Given the description of an element on the screen output the (x, y) to click on. 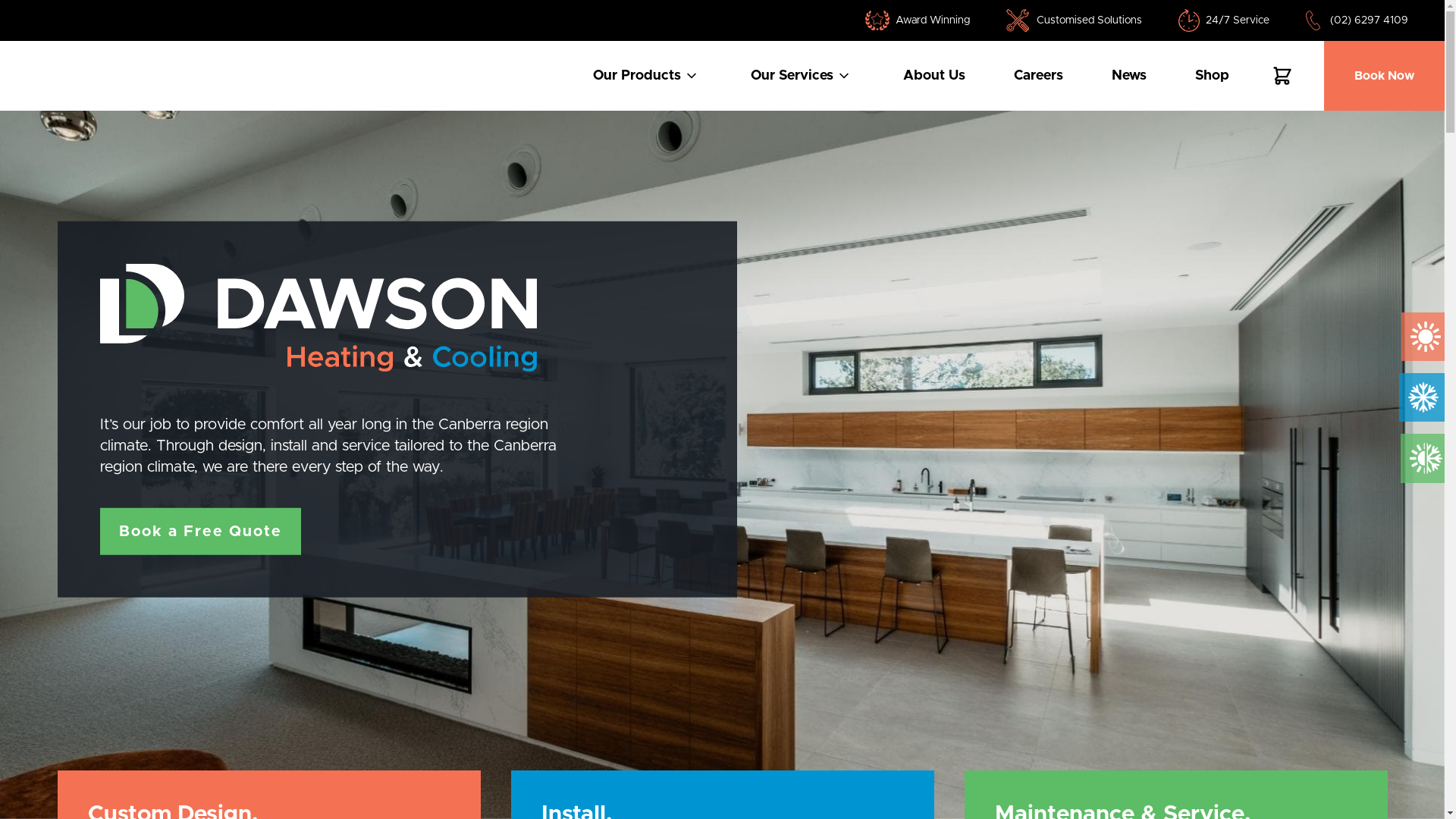
Book a Free Quote Element type: text (200, 531)
About Us Element type: text (934, 75)
Book Now Element type: text (1384, 75)
News Element type: text (1128, 75)
Careers Element type: text (1038, 75)
Our Products Element type: text (647, 75)
Shop Element type: text (1212, 75)
Our Services Element type: text (802, 75)
(02) 6297 4109 Element type: text (1369, 20)
